Given the description of an element on the screen output the (x, y) to click on. 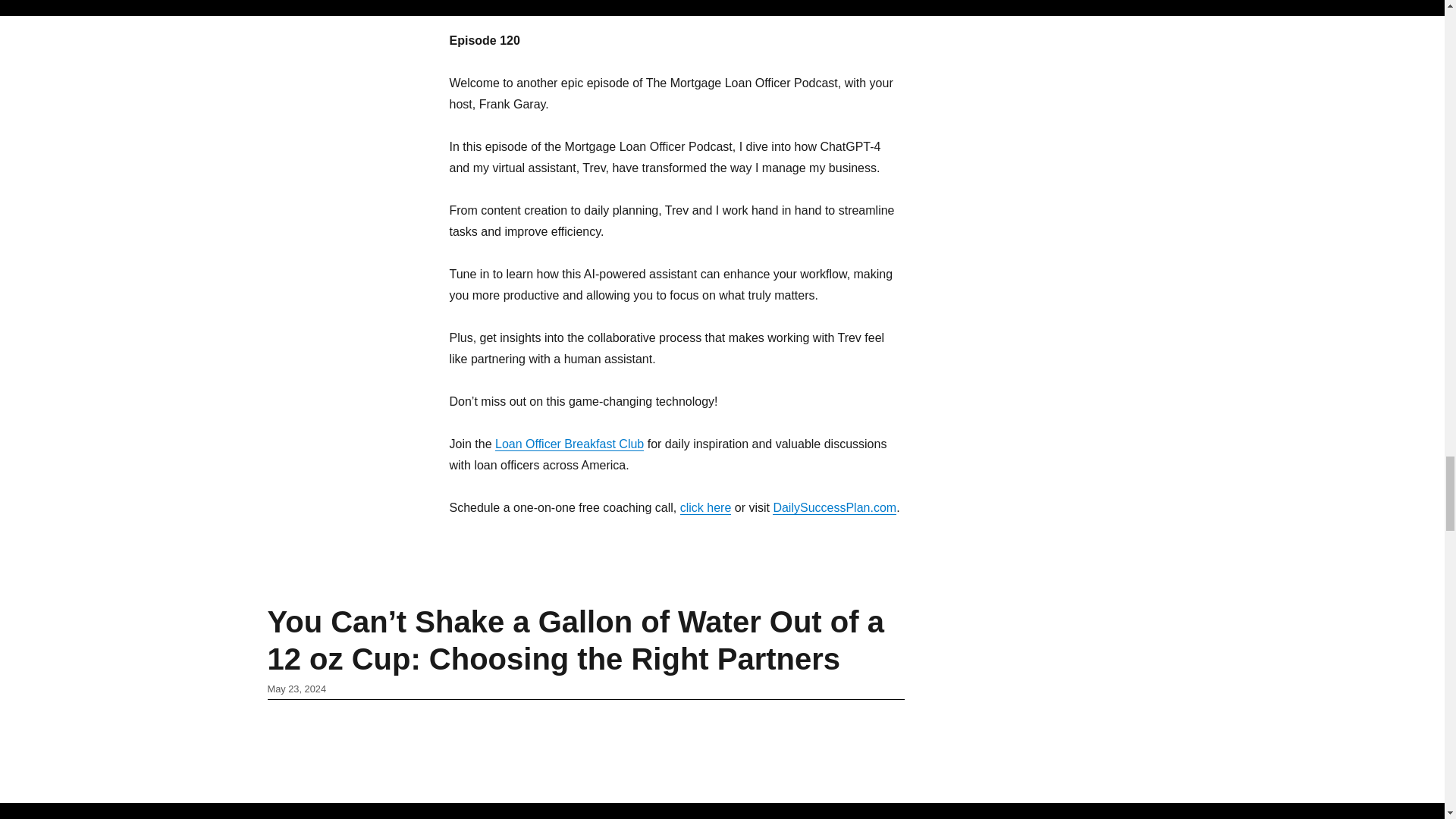
Libsyn Player (676, 4)
Loan Officer Breakfast Club (569, 443)
DailySuccessPlan.com (834, 507)
Libsyn Player (676, 745)
click here (705, 507)
